Given the description of an element on the screen output the (x, y) to click on. 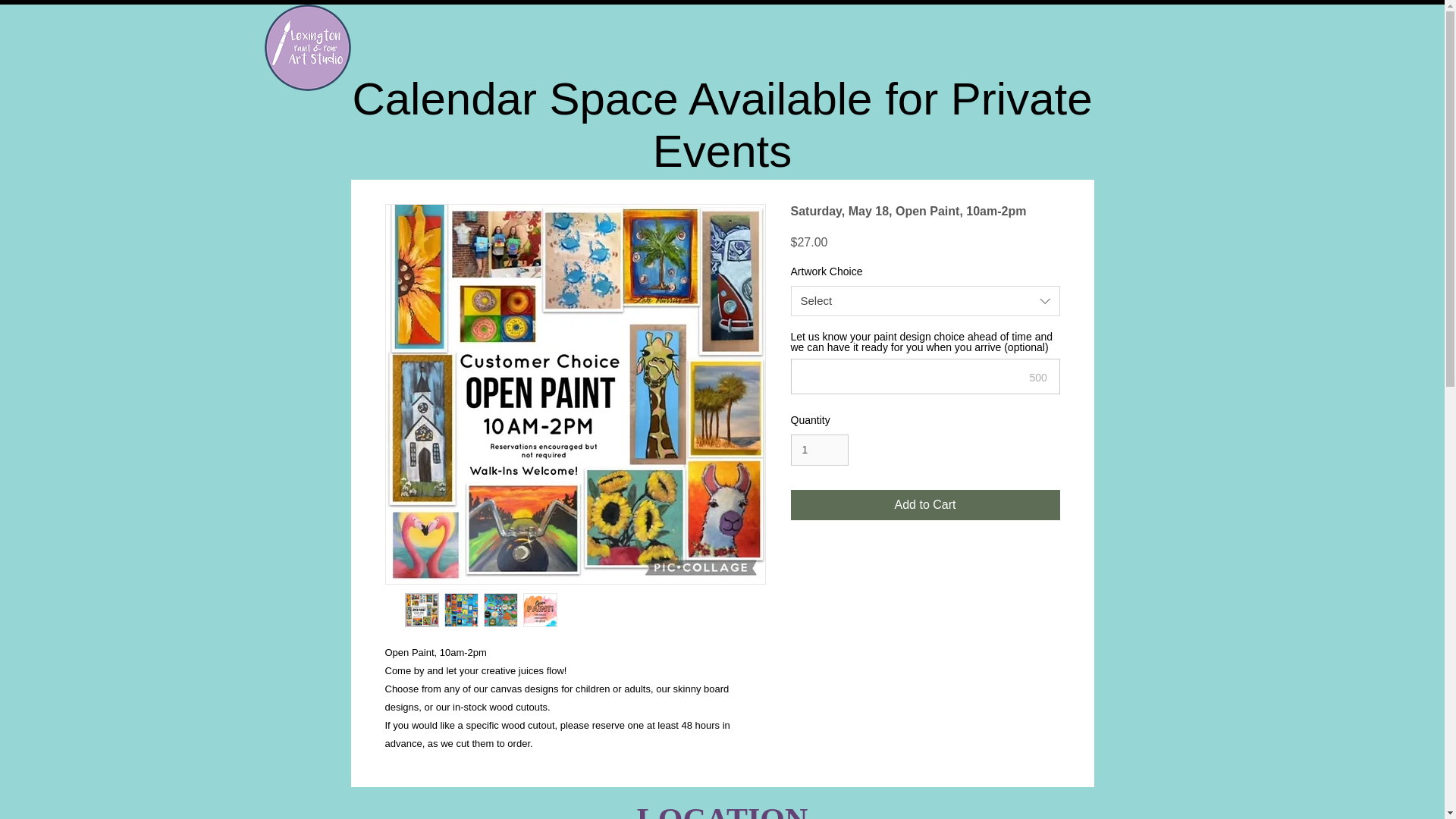
Add to Cart (924, 504)
Select (924, 300)
1 (818, 450)
